Given the description of an element on the screen output the (x, y) to click on. 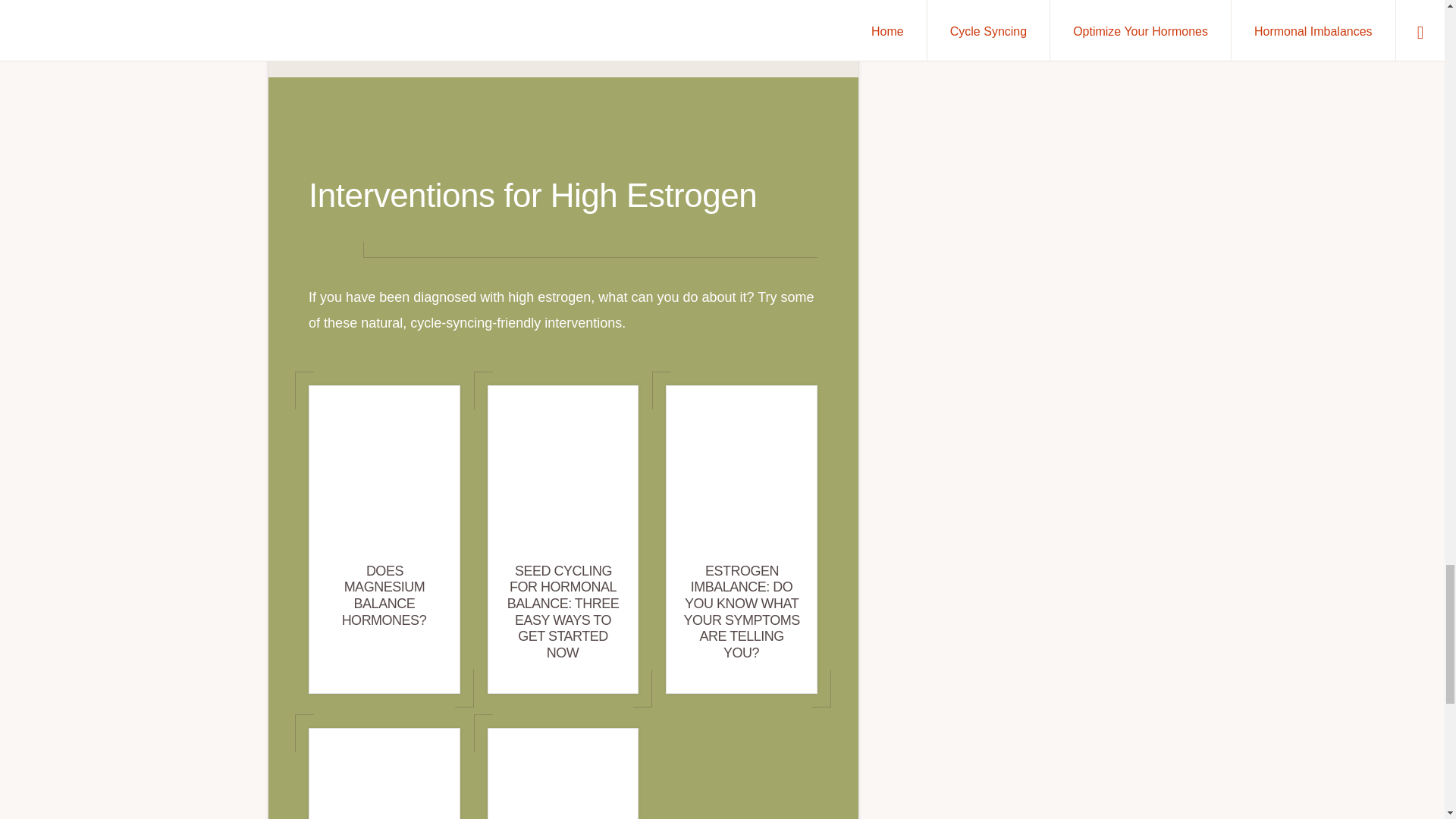
DOES MAGNESIUM BALANCE HORMONES? (385, 595)
